Given the description of an element on the screen output the (x, y) to click on. 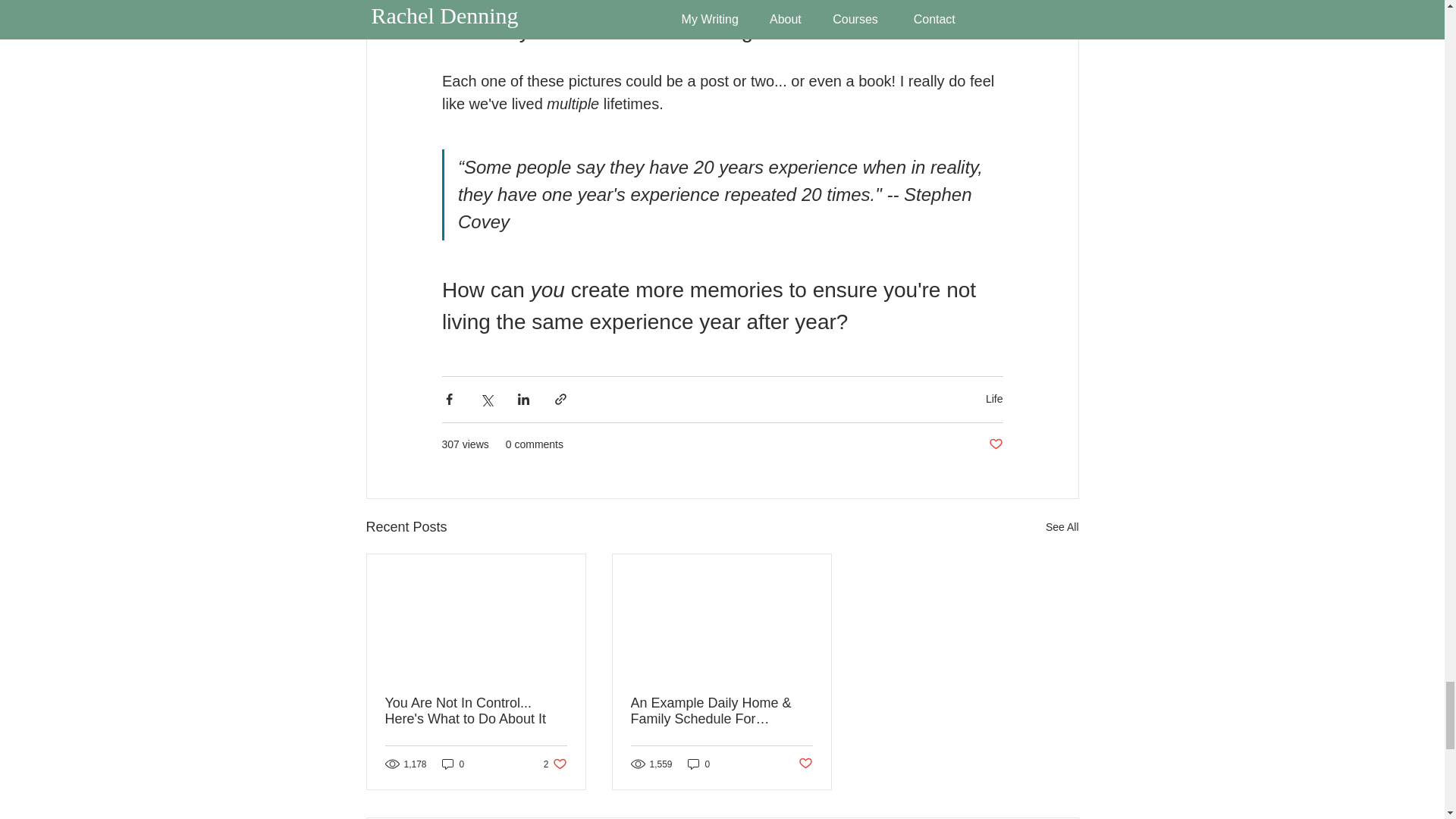
You Are Not In Control... Here's What to Do About It (476, 711)
Post not marked as liked (555, 763)
Life (804, 763)
0 (994, 398)
0 (698, 763)
See All (453, 763)
Post not marked as liked (1061, 527)
